Given the description of an element on the screen output the (x, y) to click on. 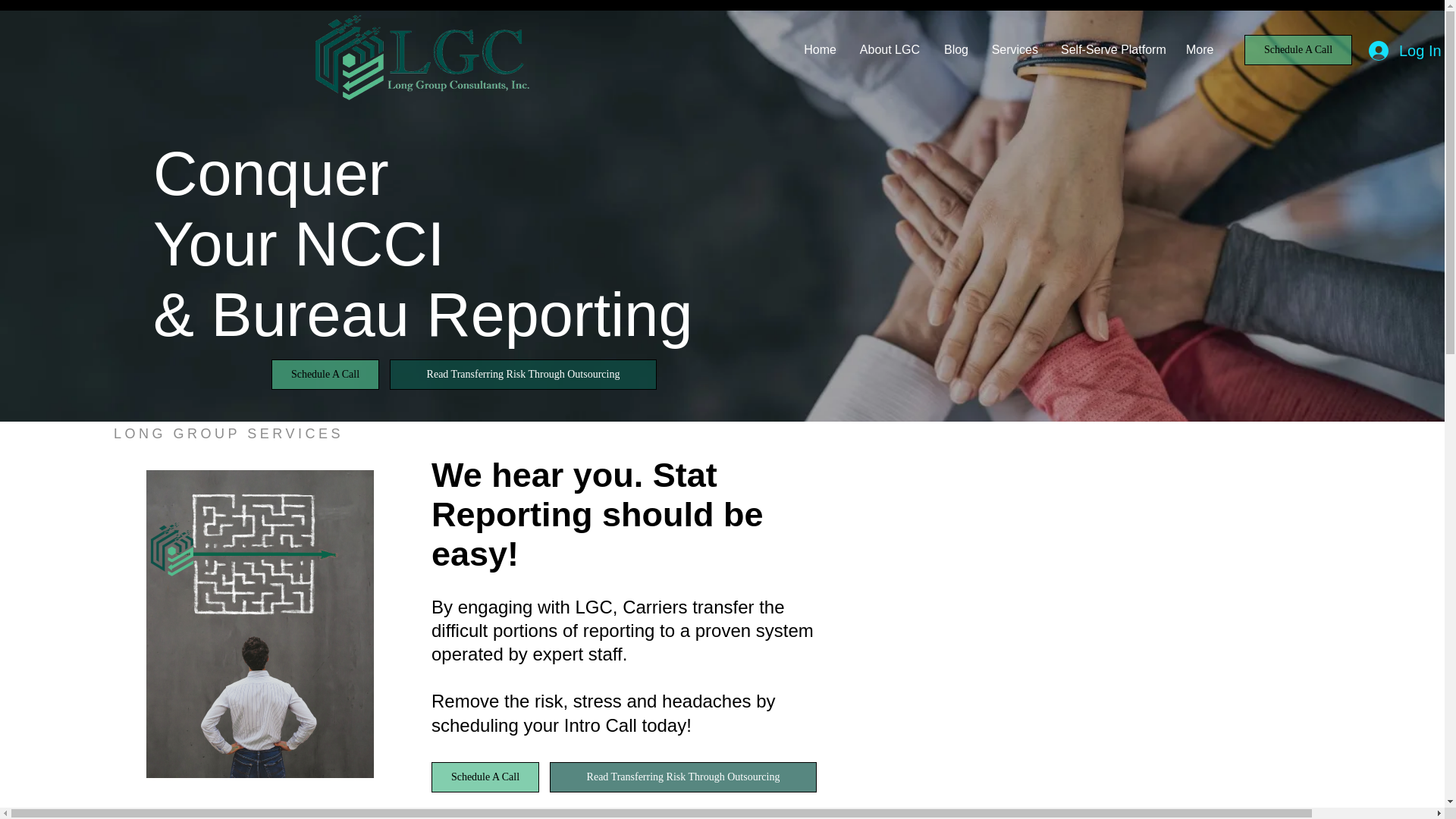
Schedule A Call (1298, 50)
Read Transferring Risk Through Outsourcing (523, 374)
Home (819, 49)
Schedule A Call (484, 777)
Schedule A Call (324, 374)
Services (1014, 49)
Read Transferring Risk Through Outsourcing (683, 777)
Self-Serve Platform (1111, 49)
Log In (1403, 50)
Blog (955, 49)
About LGC (889, 49)
